Given the description of an element on the screen output the (x, y) to click on. 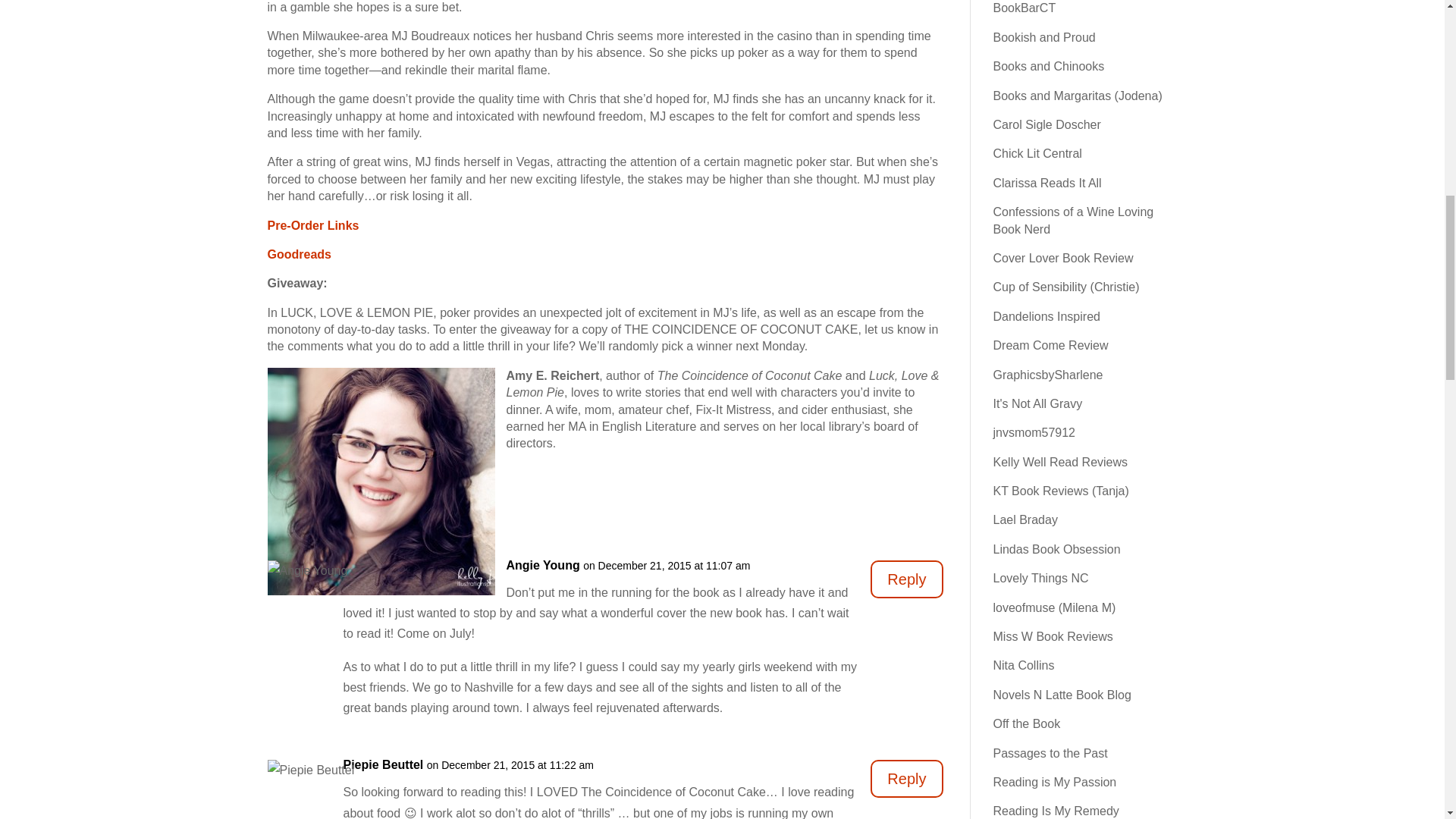
Goodreads (298, 254)
Angie Young (542, 565)
Reply (906, 579)
Reply (906, 778)
Pre-Order Links (312, 225)
